Given the description of an element on the screen output the (x, y) to click on. 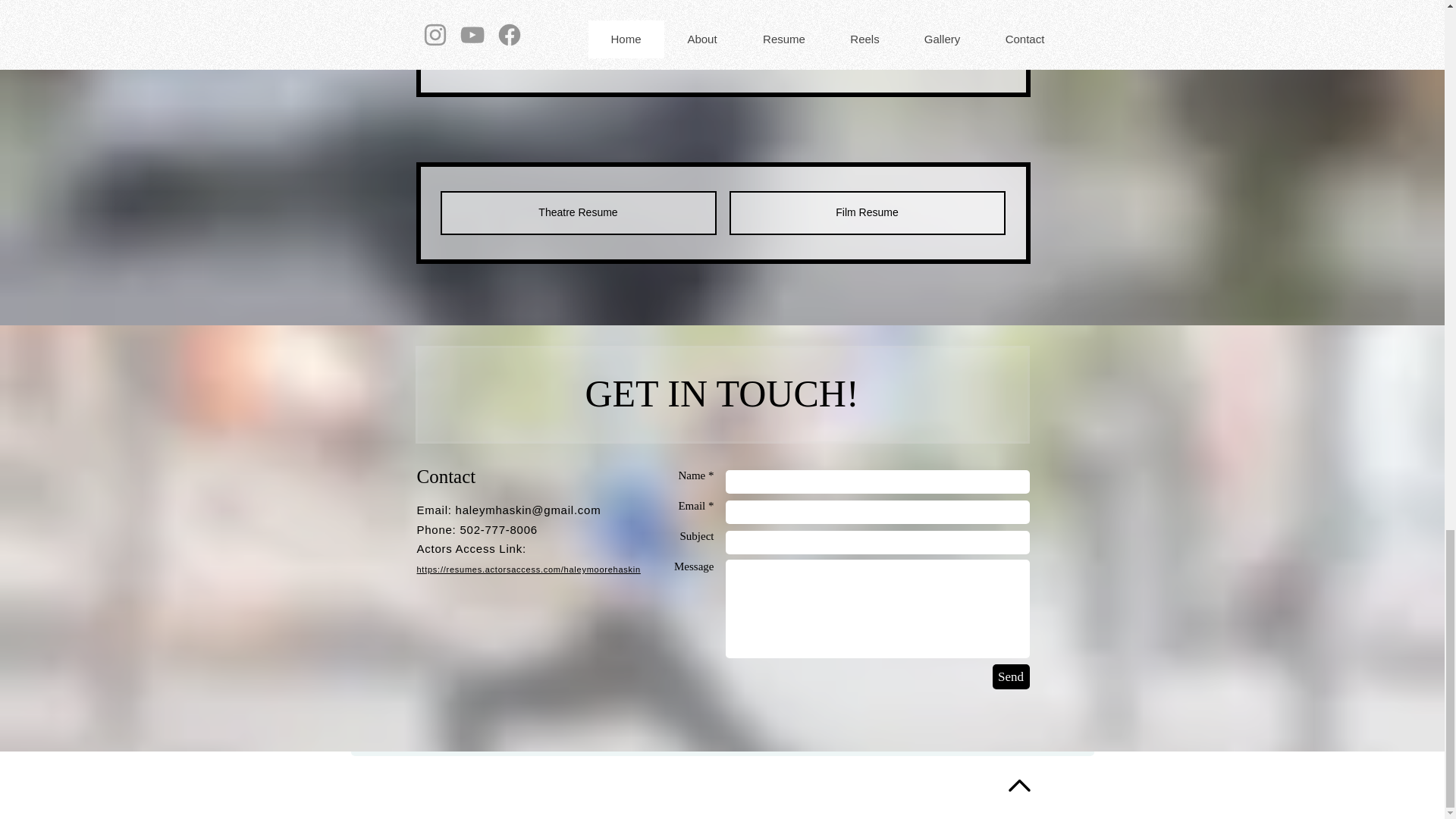
Theatre Resume (577, 212)
Gallery (721, 48)
Send (1010, 676)
Film Resume (867, 212)
